Given the description of an element on the screen output the (x, y) to click on. 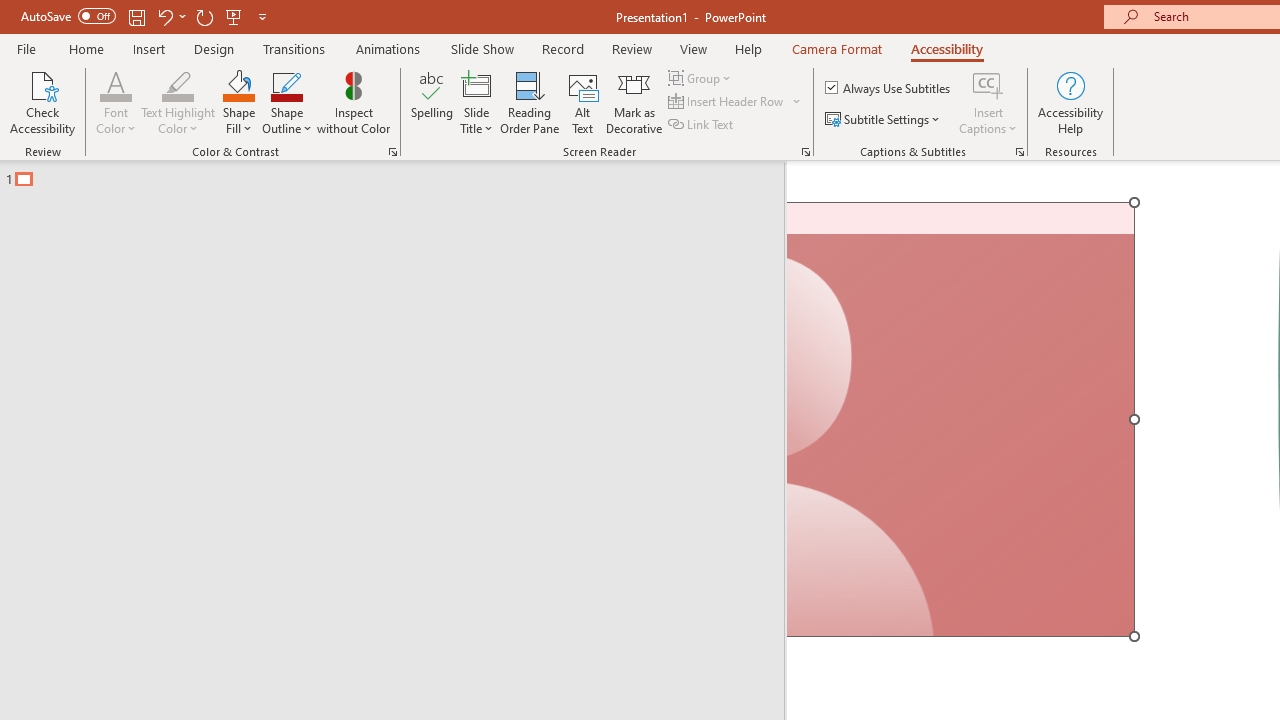
Group (701, 78)
Insert Header Row (735, 101)
Captions & Subtitles (1019, 151)
Spelling... (432, 102)
Insert Header Row (727, 101)
